Given the description of an element on the screen output the (x, y) to click on. 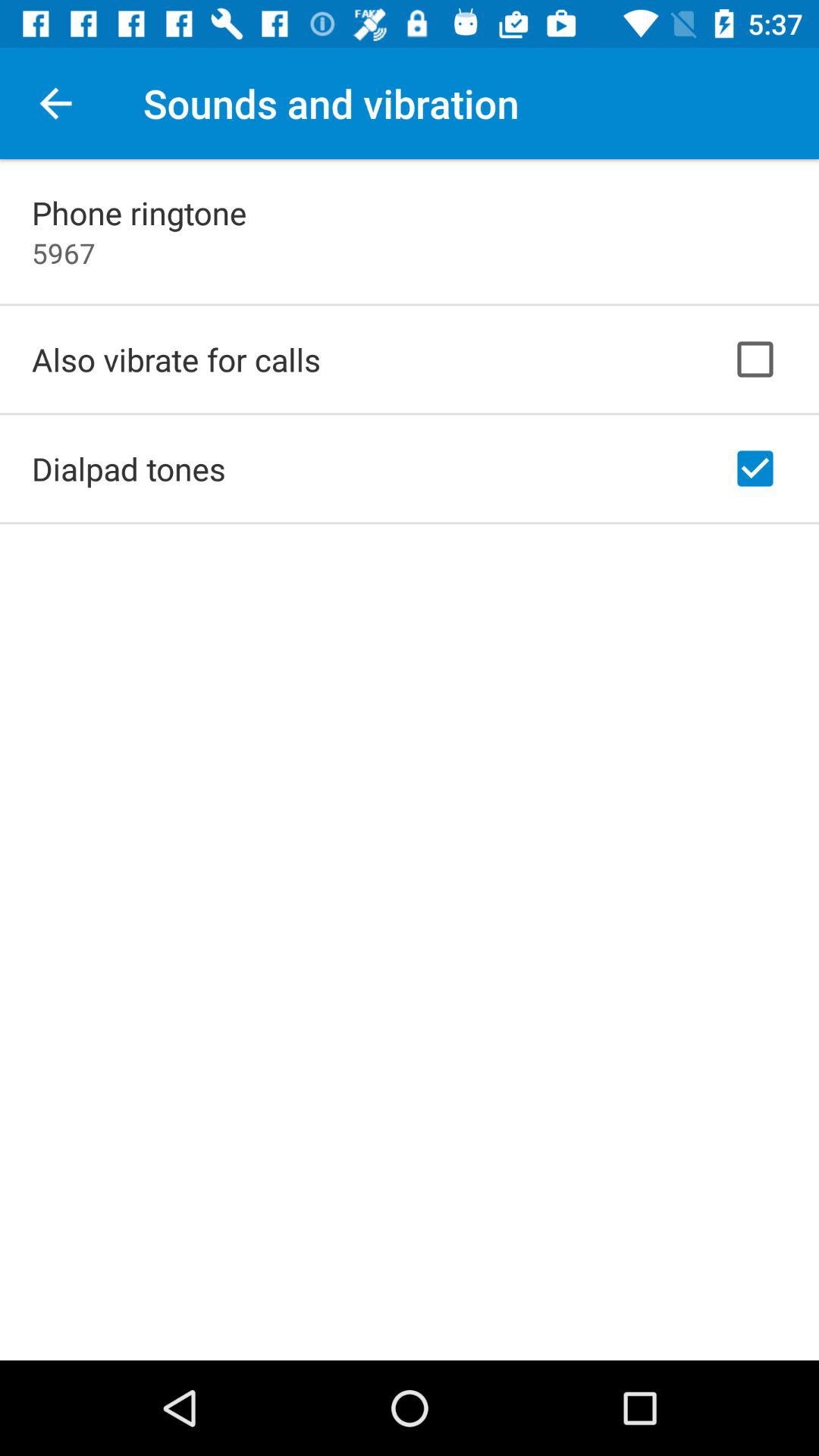
turn off the icon next to the sounds and vibration icon (55, 103)
